Given the description of an element on the screen output the (x, y) to click on. 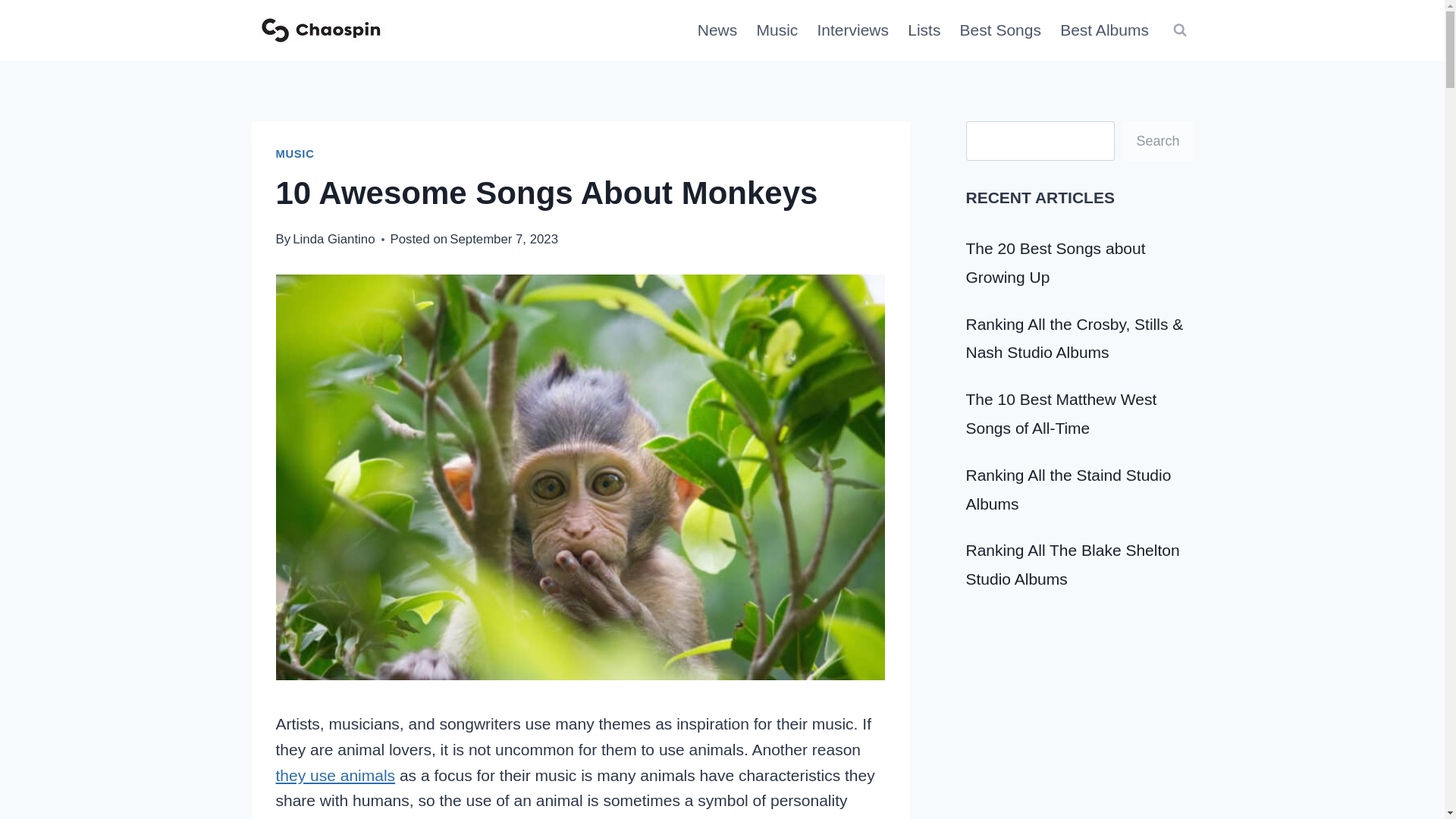
Best Albums (1104, 30)
MUSIC (295, 153)
Linda Giantino (333, 238)
Interviews (853, 30)
Music (777, 30)
News (716, 30)
they use animals (336, 774)
Best Songs (1000, 30)
Lists (924, 30)
